Given the description of an element on the screen output the (x, y) to click on. 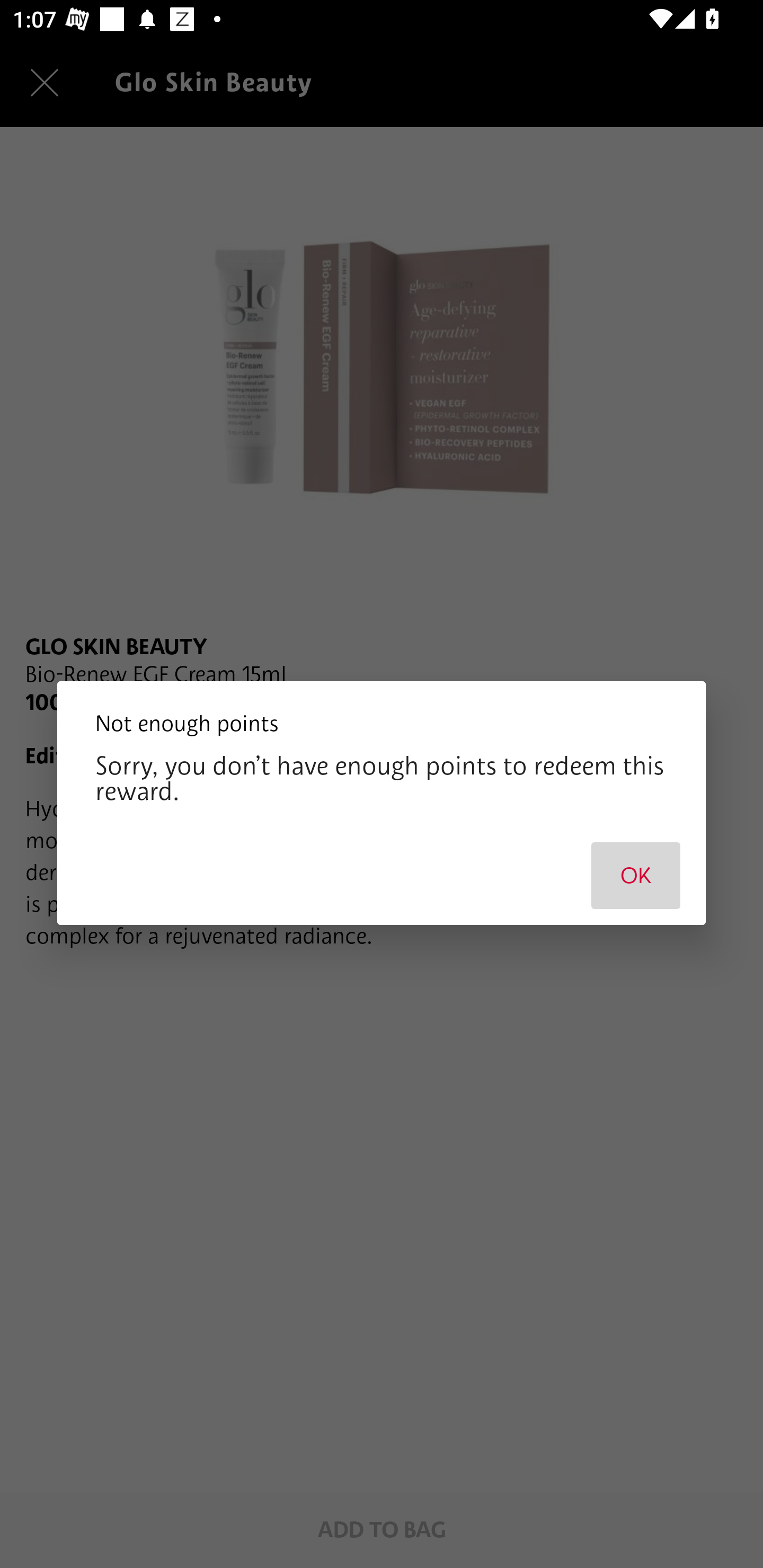
OK (635, 875)
